Given the description of an element on the screen output the (x, y) to click on. 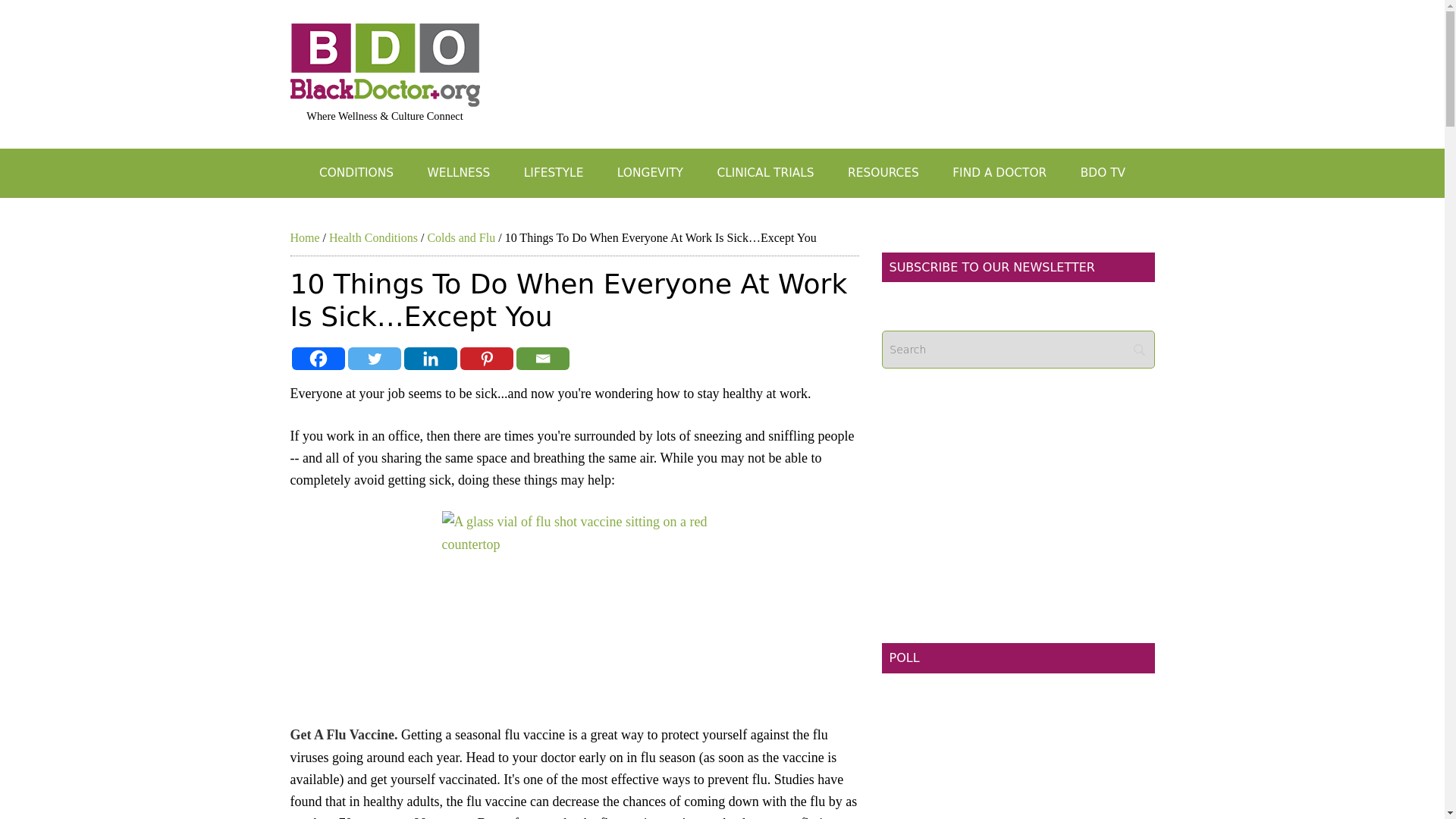
Email (542, 358)
3rd party ad content (1017, 770)
Health Conditions (373, 237)
RESOURCES (883, 173)
Home (303, 237)
LIFESTYLE (553, 173)
3rd party ad content (878, 56)
CONDITIONS (356, 173)
Pinterest (486, 358)
